Given the description of an element on the screen output the (x, y) to click on. 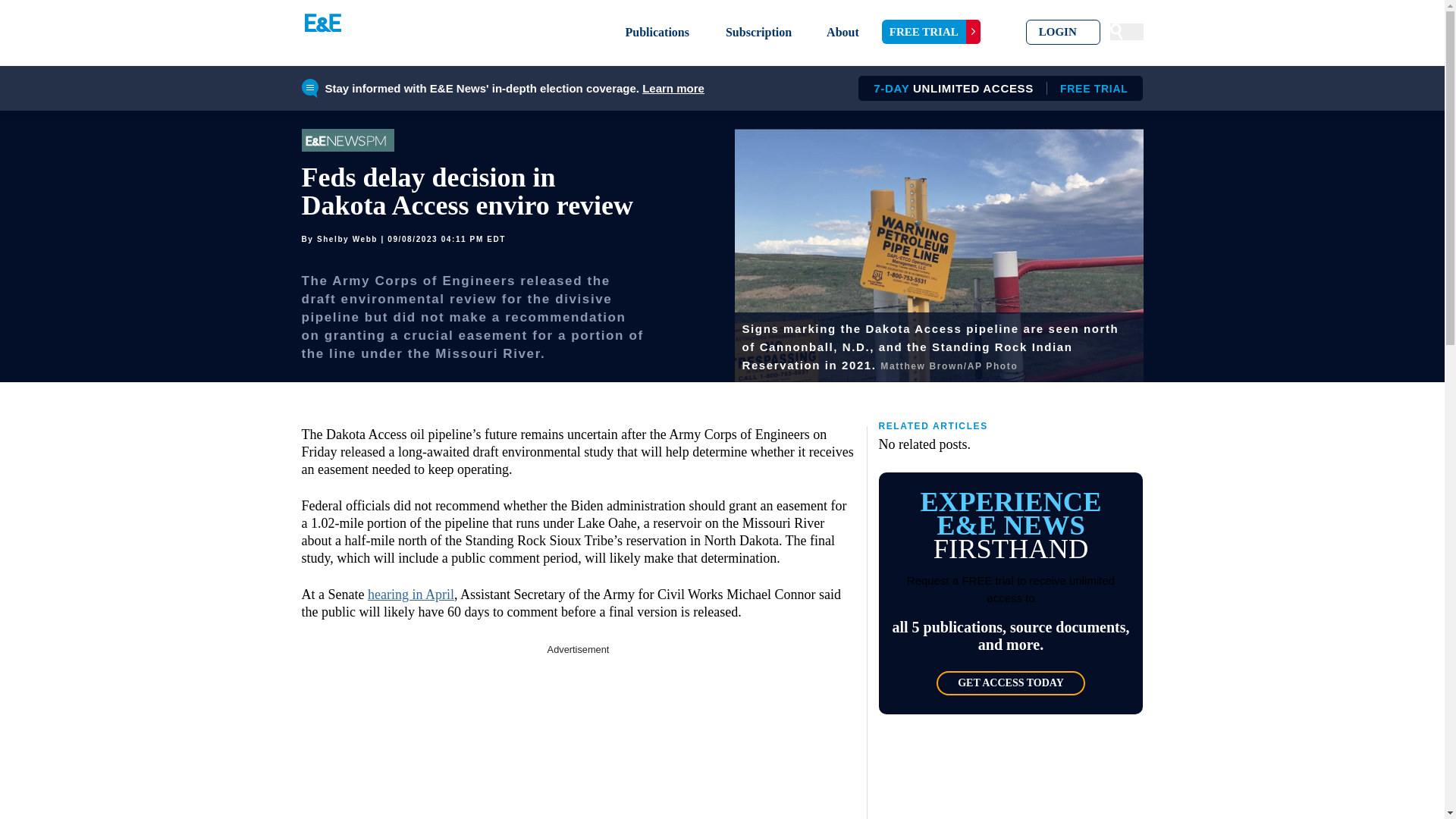
About (843, 32)
Subscription (758, 32)
Publications (656, 32)
GET ACCESS TODAY (1010, 682)
hearing in April (411, 594)
LOGIN (994, 88)
Skip to primary navigation (1063, 32)
FREE TRIAL (577, 738)
Learn more (930, 31)
